Given the description of an element on the screen output the (x, y) to click on. 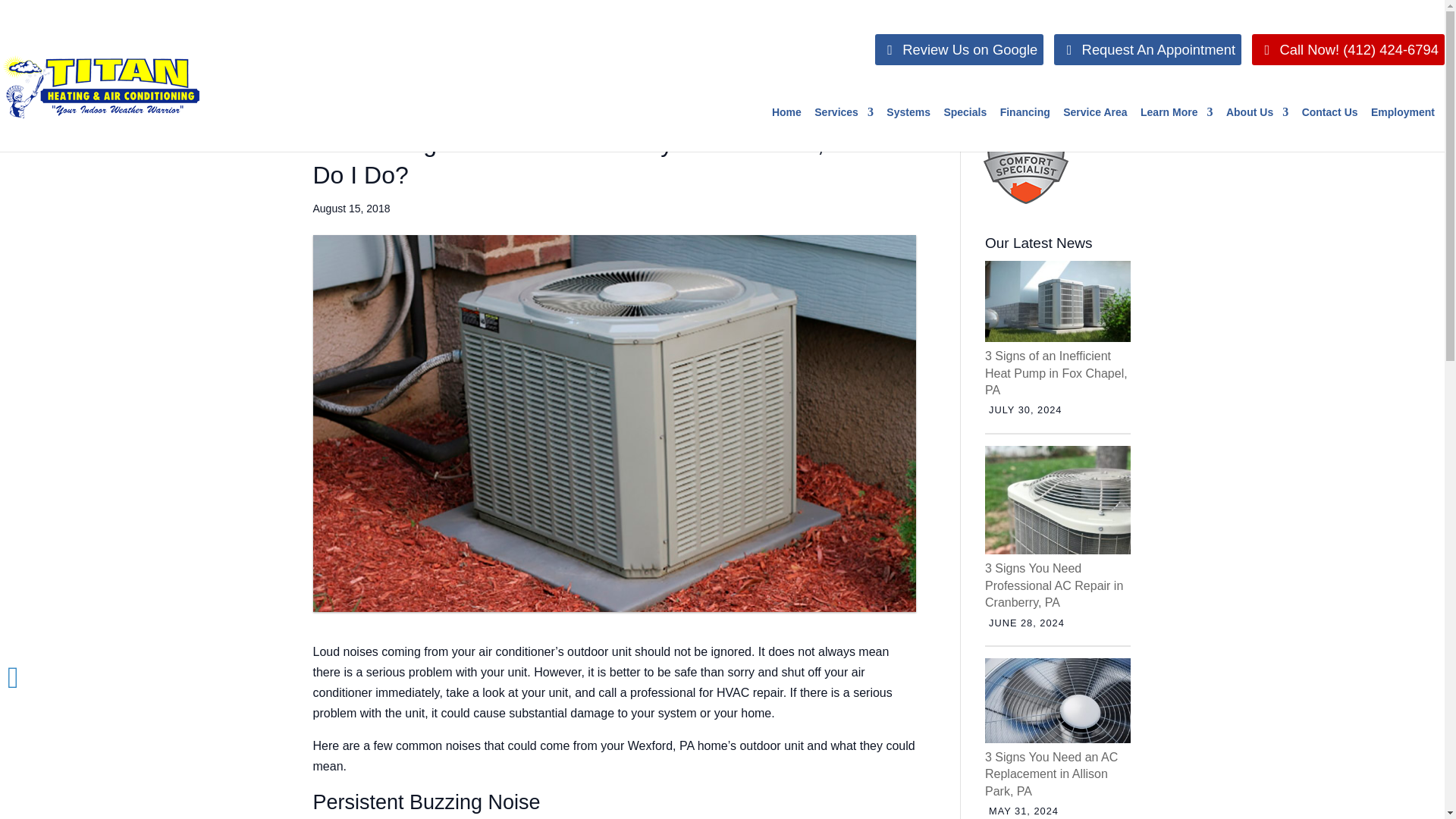
Service Area (1094, 129)
Review Us on Google (959, 49)
Specials (965, 129)
Learn More (1176, 129)
Services (843, 129)
About Us (1256, 129)
Employment (1402, 129)
Systems (908, 129)
Request An Appointment (1147, 49)
Financing (1024, 129)
Contact Us (1329, 129)
